Given the description of an element on the screen output the (x, y) to click on. 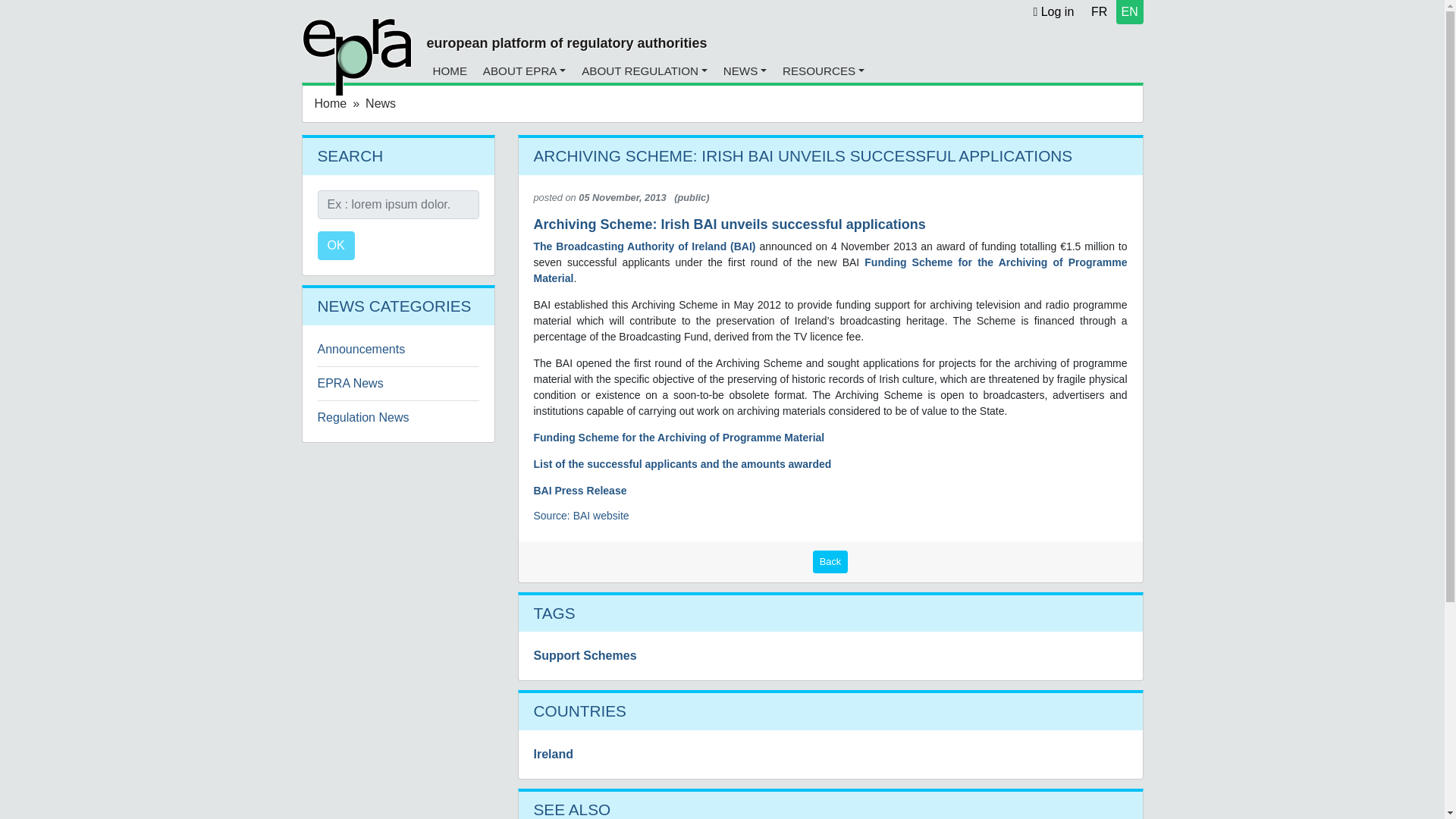
FR (1099, 11)
Log in (1053, 11)
Home (330, 103)
Funding Scheme for the Archiving of Programme Material (830, 270)
Regulation News (363, 417)
EN (1129, 11)
Back (829, 561)
RESOURCES (823, 70)
List of the successful applicants and the amounts awarded (682, 463)
OK (335, 245)
